Given the description of an element on the screen output the (x, y) to click on. 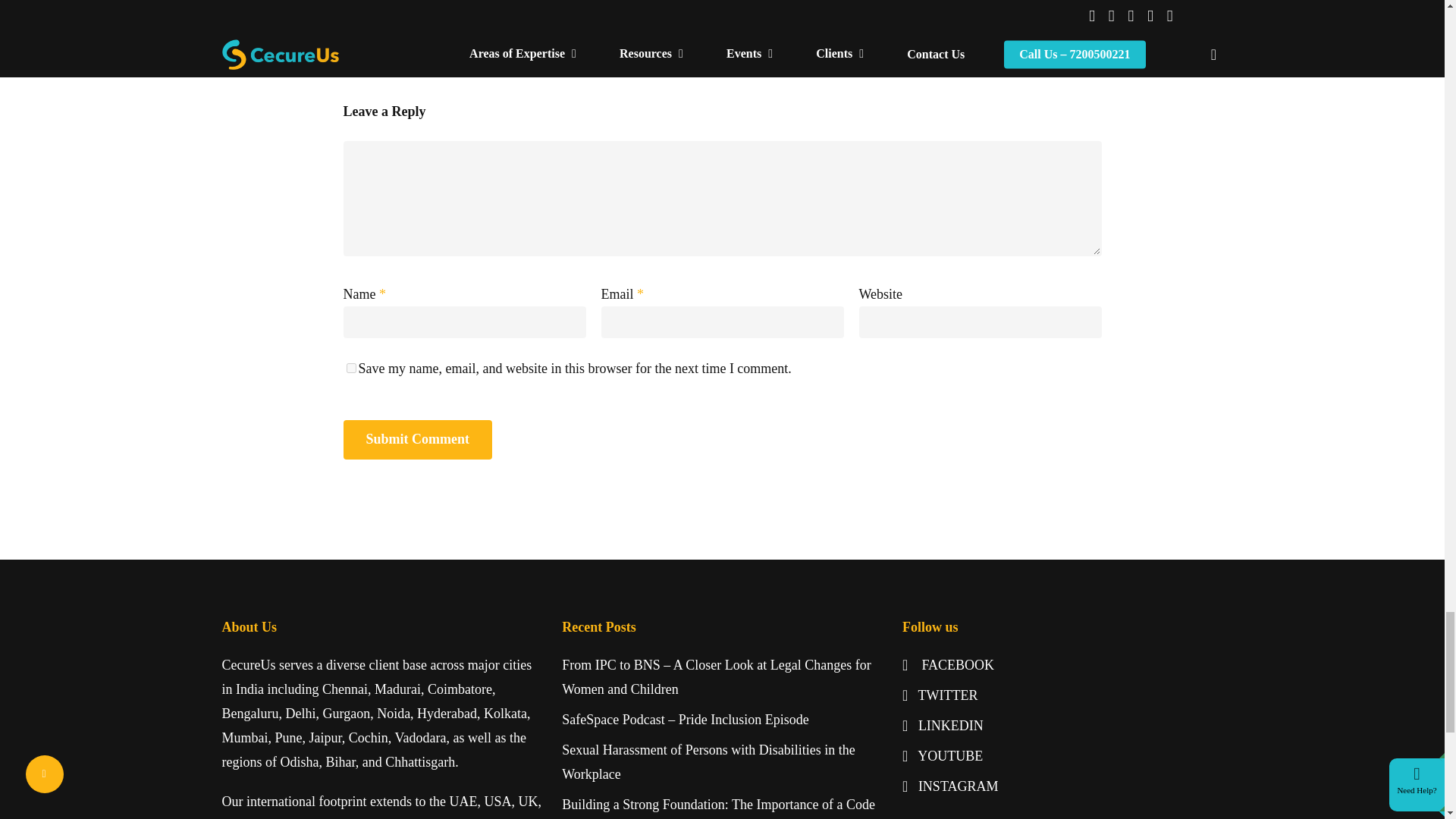
yes (350, 368)
Submit Comment (417, 439)
